Given the description of an element on the screen output the (x, y) to click on. 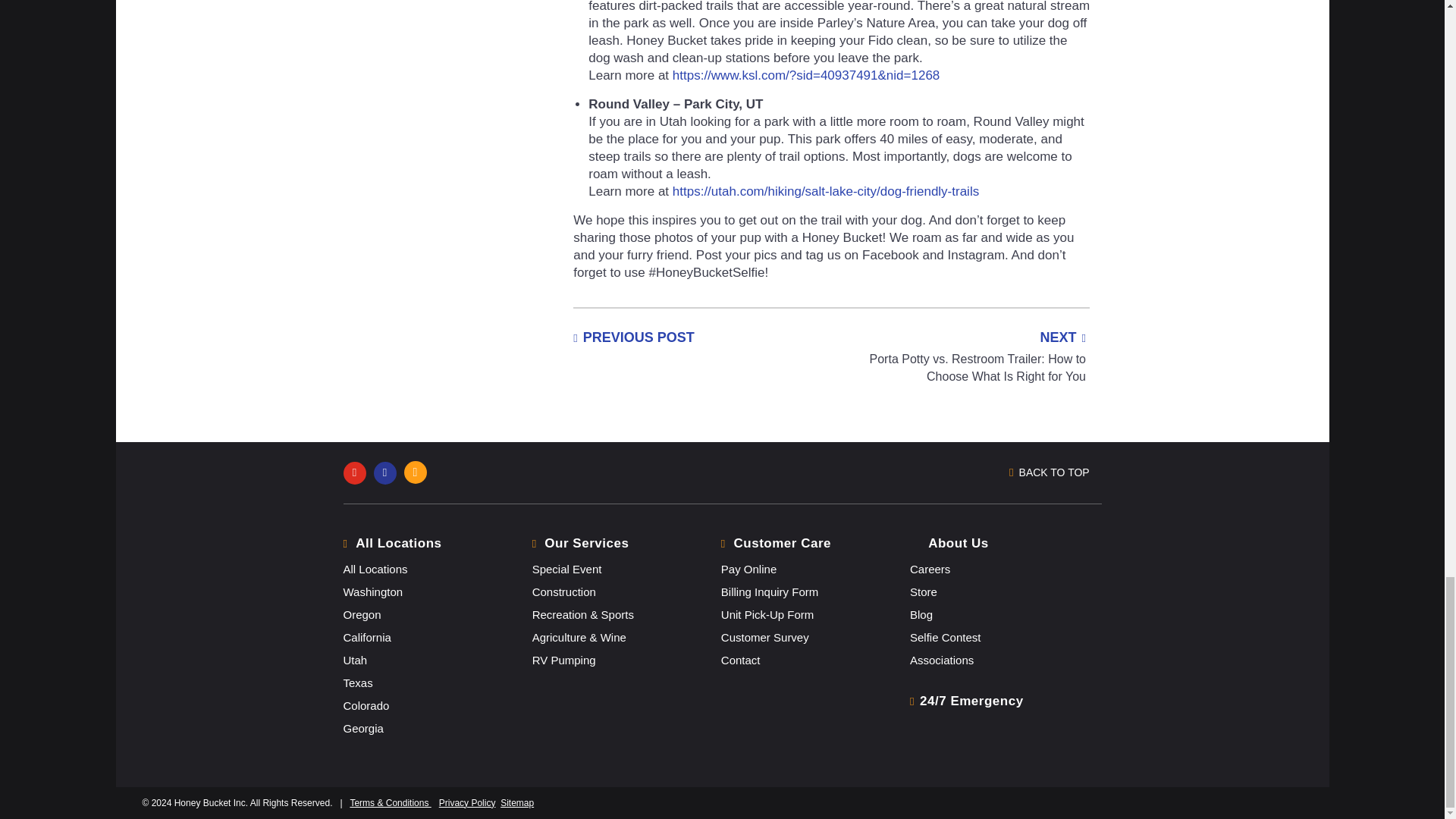
BACK TO TOP (1054, 472)
Facebook (357, 472)
BACK TO TOP (903, 472)
Twitter (387, 472)
Instagram (418, 472)
